Given the description of an element on the screen output the (x, y) to click on. 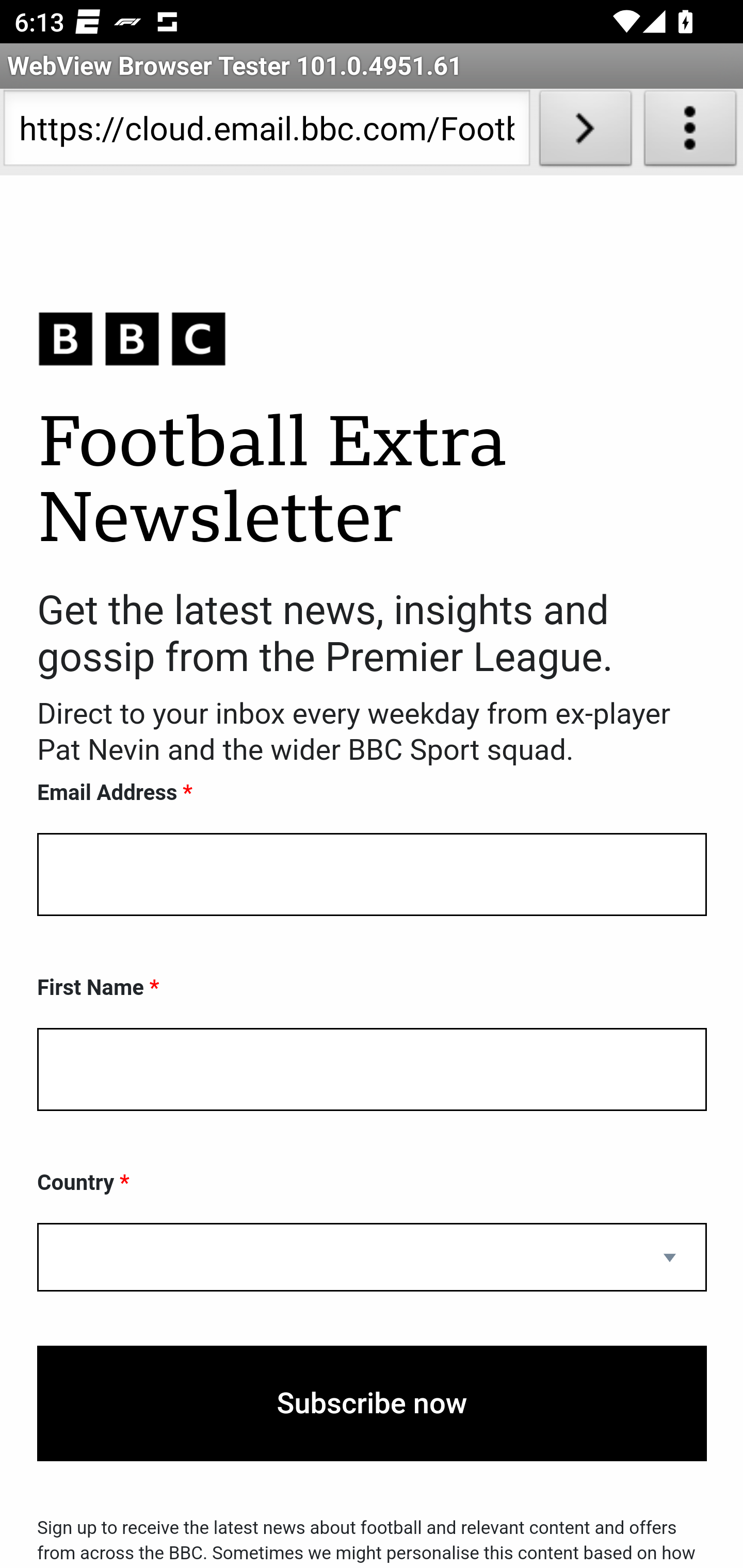
Load URL (585, 132)
About WebView (690, 132)
BBC (372, 338)
Subscribe now (372, 1403)
